Given the description of an element on the screen output the (x, y) to click on. 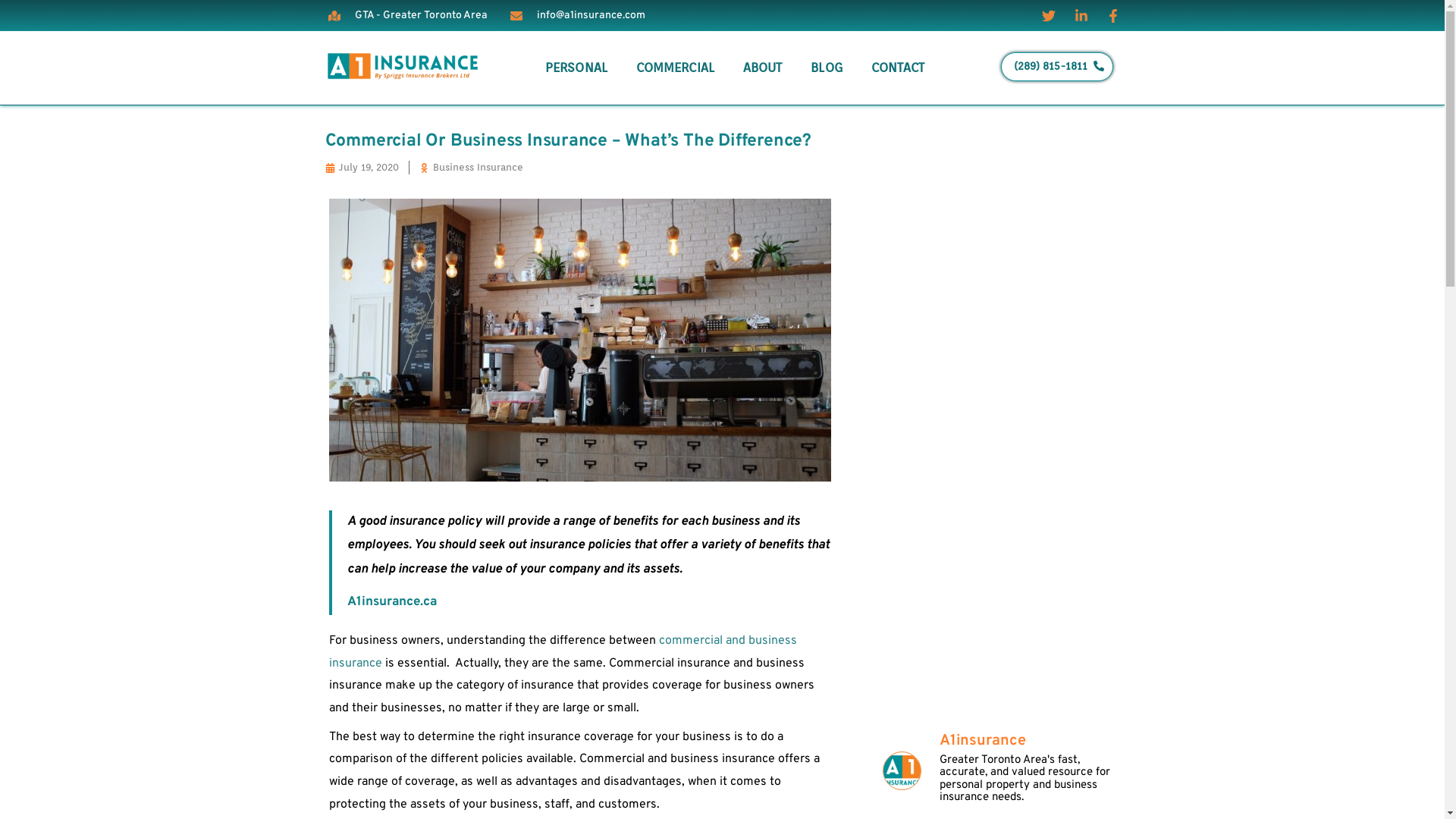
(289) 815-1811 Element type: text (1057, 66)
info@a1insurance.com Element type: text (576, 15)
CONTACT Element type: text (897, 67)
PERSONAL Element type: text (575, 67)
ABOUT Element type: text (762, 67)
COMMERCIAL Element type: text (674, 67)
BLOG Element type: text (826, 67)
A1insurance Element type: text (1031, 740)
Business Insurance Element type: text (477, 166)
commercial and business insurance Element type: text (563, 652)
